Given the description of an element on the screen output the (x, y) to click on. 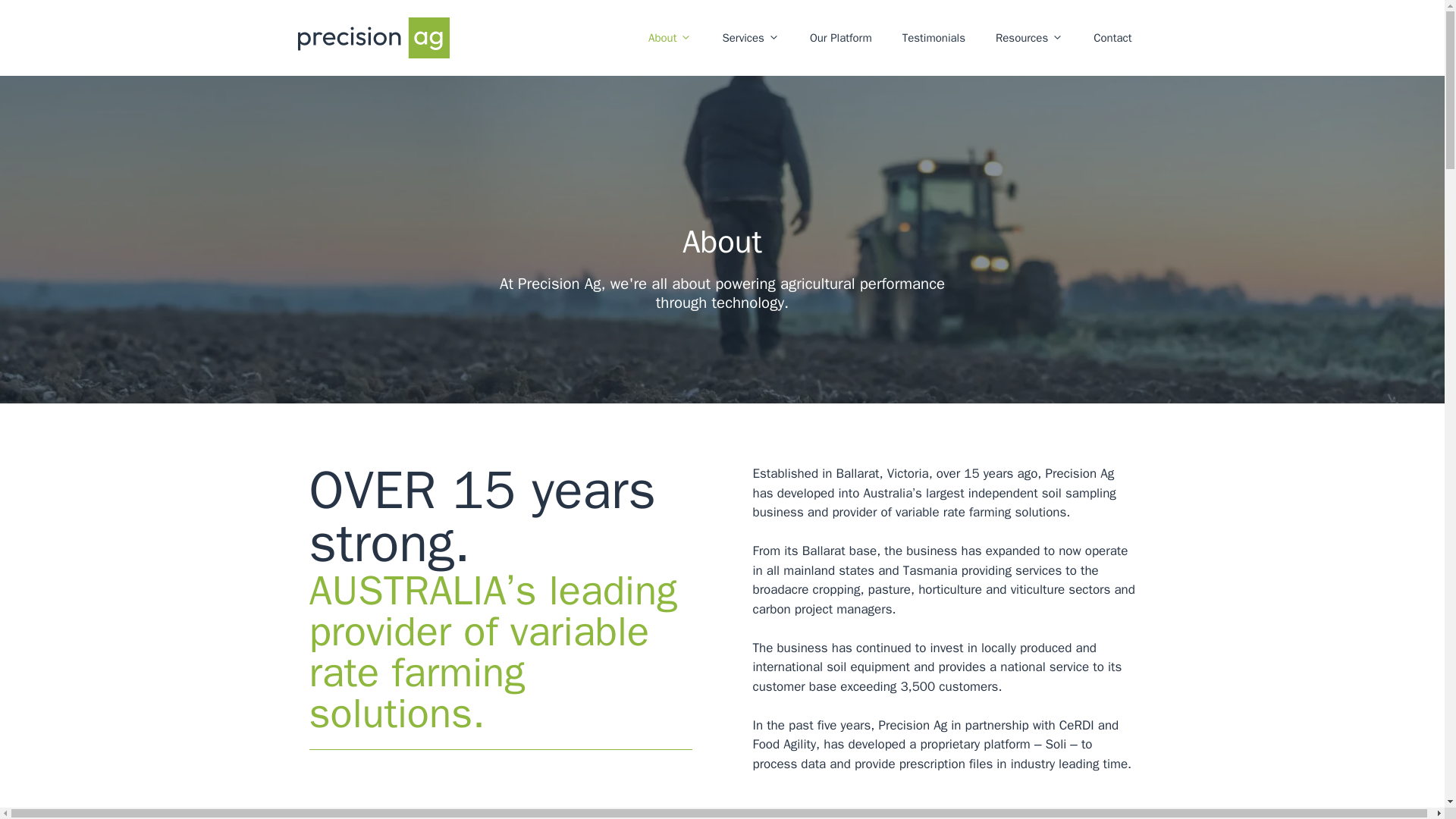
About (669, 37)
Services (749, 37)
Testimonials (932, 37)
Resources (1028, 37)
Our Platform (840, 37)
Contact (1112, 37)
